Given the description of an element on the screen output the (x, y) to click on. 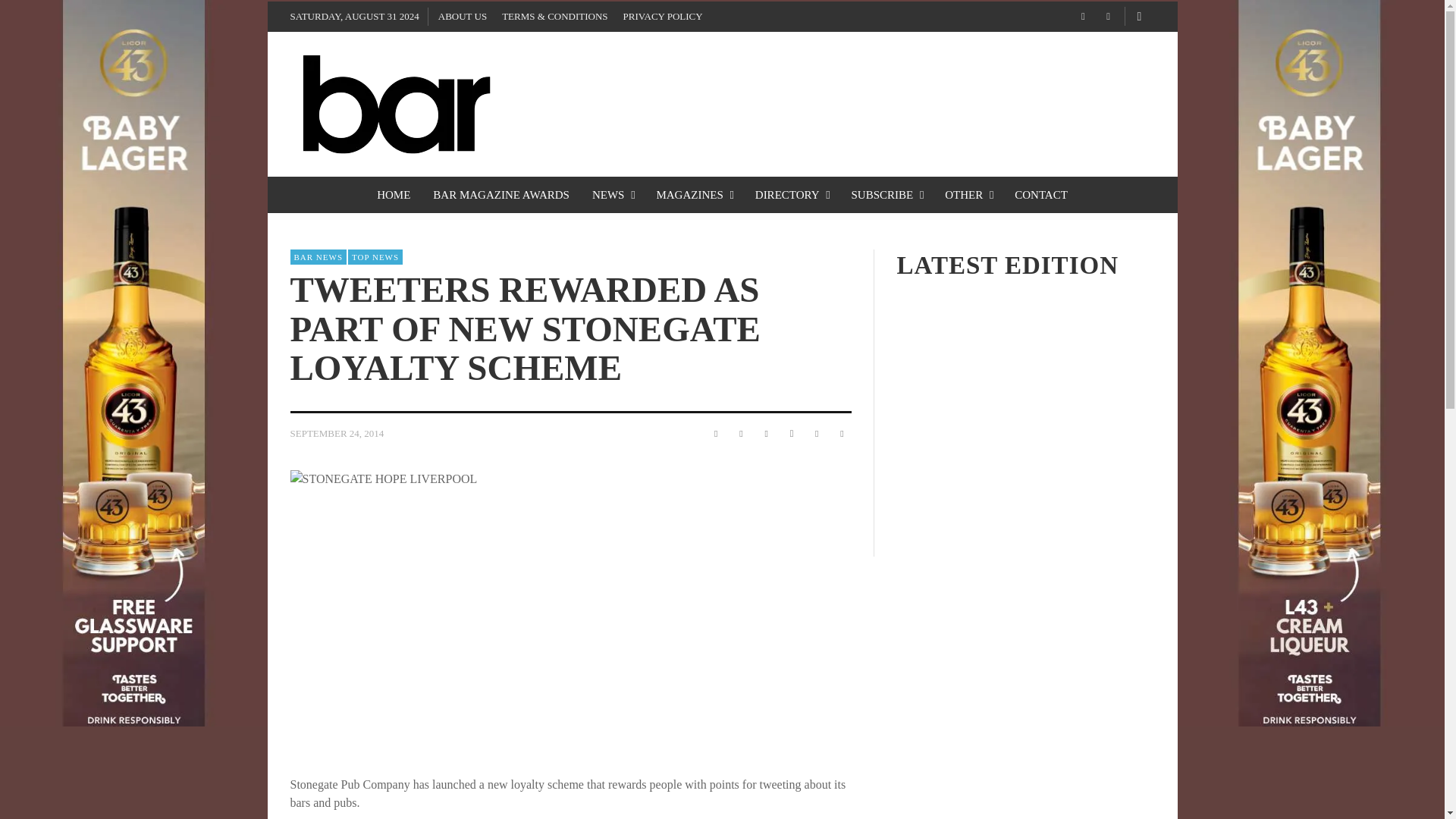
HOME (393, 194)
PRIVACY POLICY (662, 16)
ABOUT US (462, 16)
View all posts in Top news (375, 256)
BAR MAGAZINE AWARDS (501, 194)
View all posts in Bar News (317, 256)
NEWS (612, 194)
MAGAZINES (693, 194)
